Given the description of an element on the screen output the (x, y) to click on. 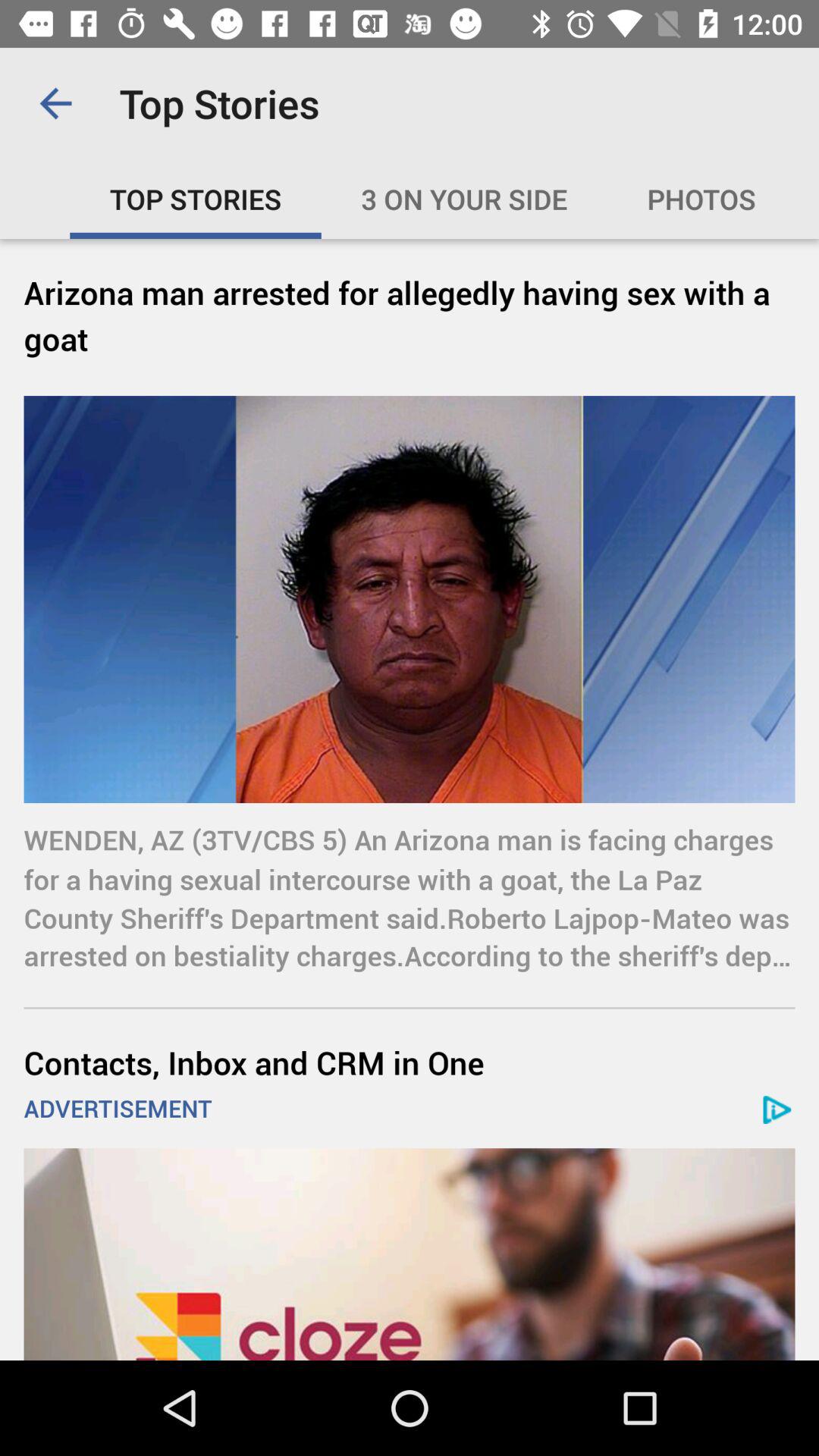
advertisement that opens company 's website (409, 1254)
